Given the description of an element on the screen output the (x, y) to click on. 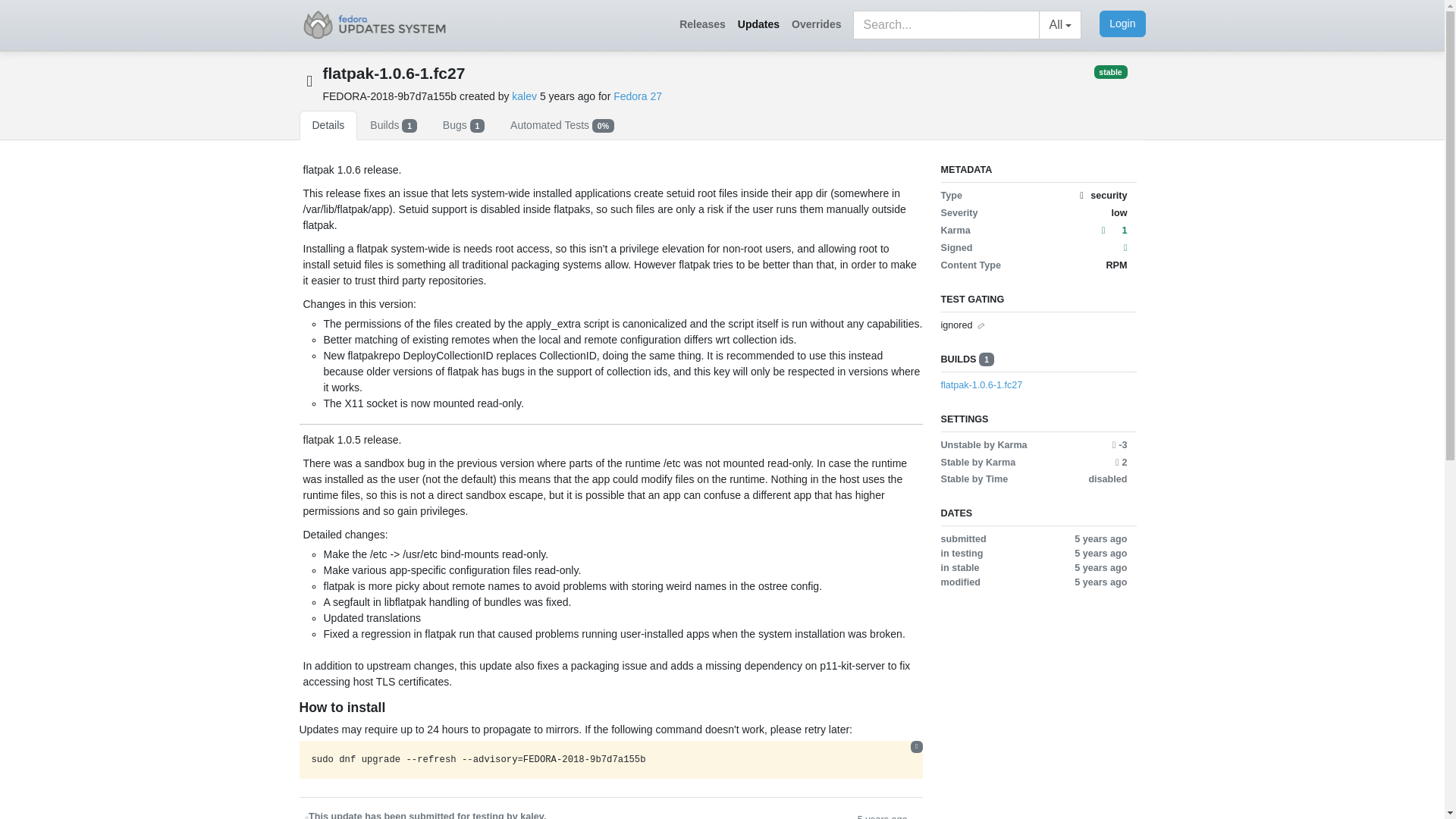
Bugs 1 (463, 125)
Fedora 27 (637, 96)
5 years ago (882, 814)
All (1060, 24)
The update will be marked as unstable when karma reaches -3  (1119, 444)
Updates (759, 24)
Builds 1 (392, 125)
Details (327, 125)
